Given the description of an element on the screen output the (x, y) to click on. 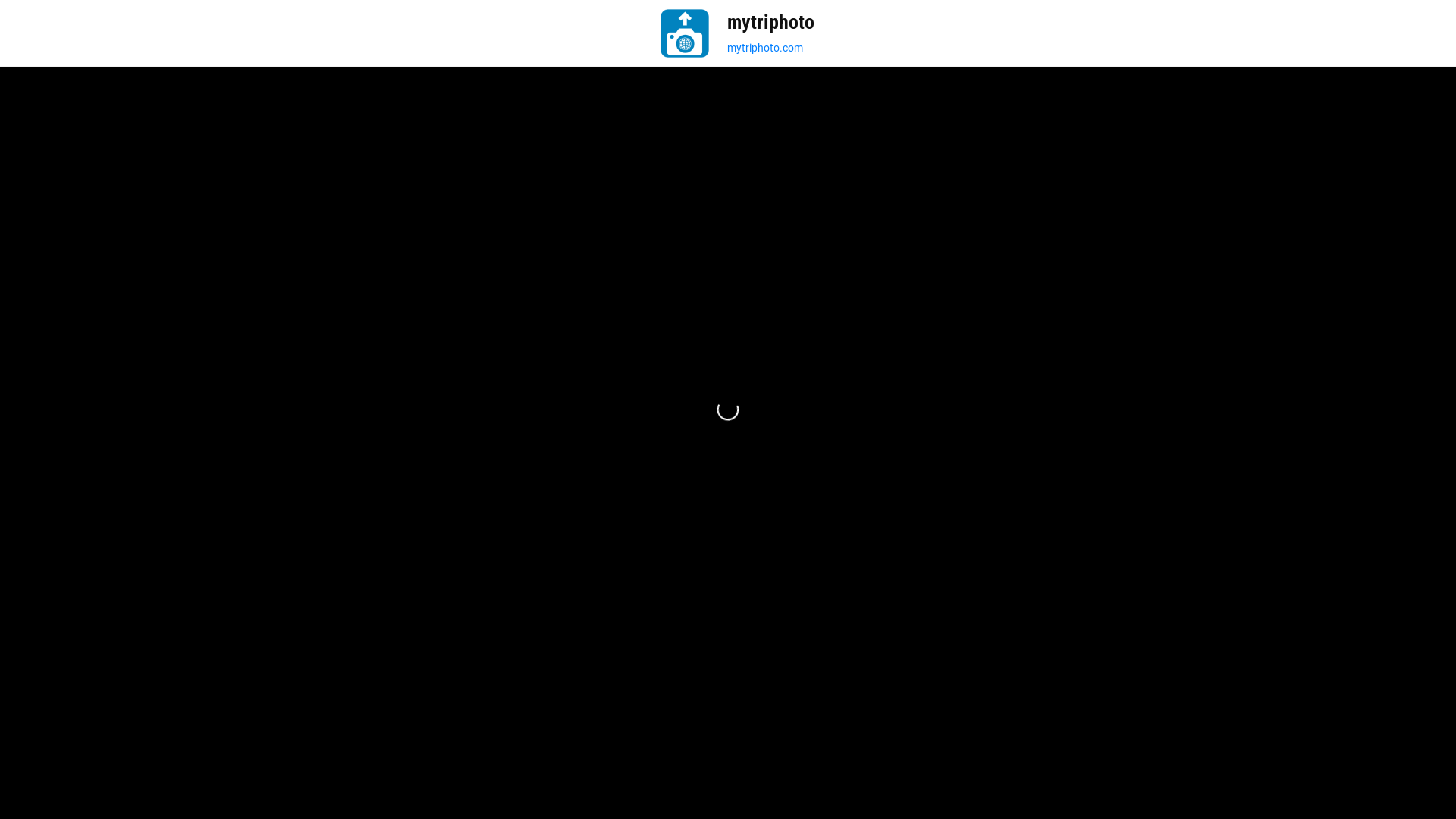
mytriphoto.com Element type: text (769, 47)
